Given the description of an element on the screen output the (x, y) to click on. 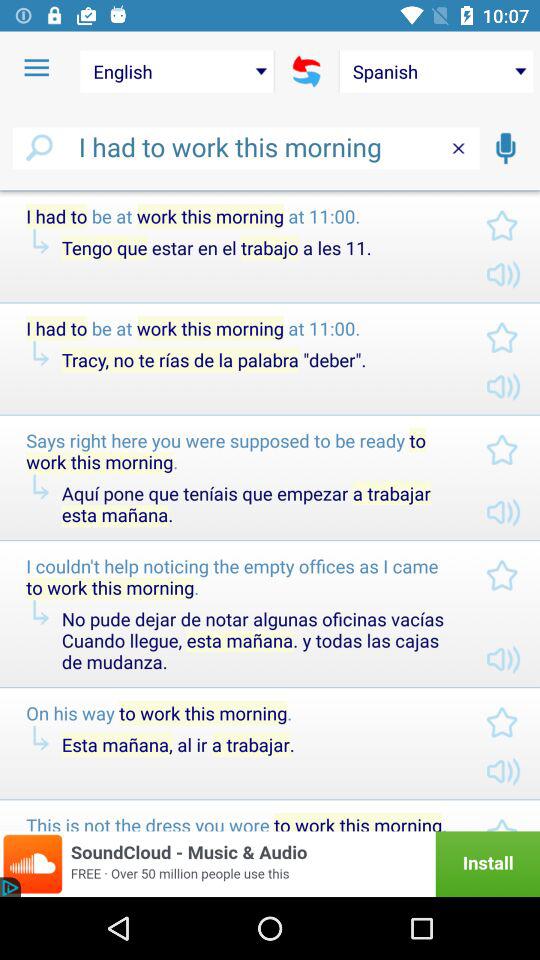
go soundcloud (270, 864)
